Given the description of an element on the screen output the (x, y) to click on. 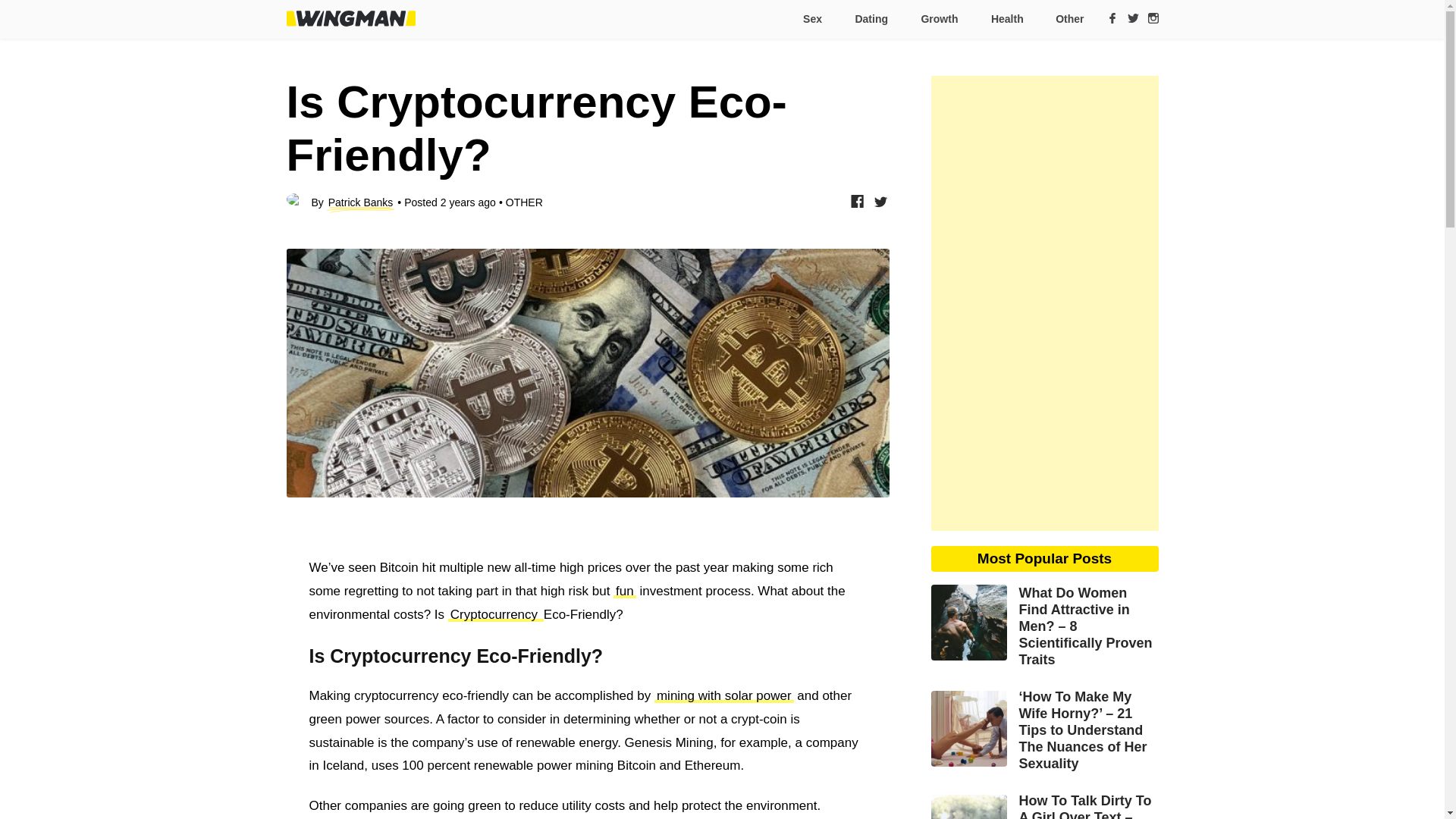
Cryptocurrency (495, 613)
Sex (810, 19)
fun (624, 590)
Other (1063, 19)
Growth (938, 19)
Health (1005, 19)
mining with solar power (723, 695)
Wingman Magazine (350, 18)
Dating (870, 19)
